Given the description of an element on the screen output the (x, y) to click on. 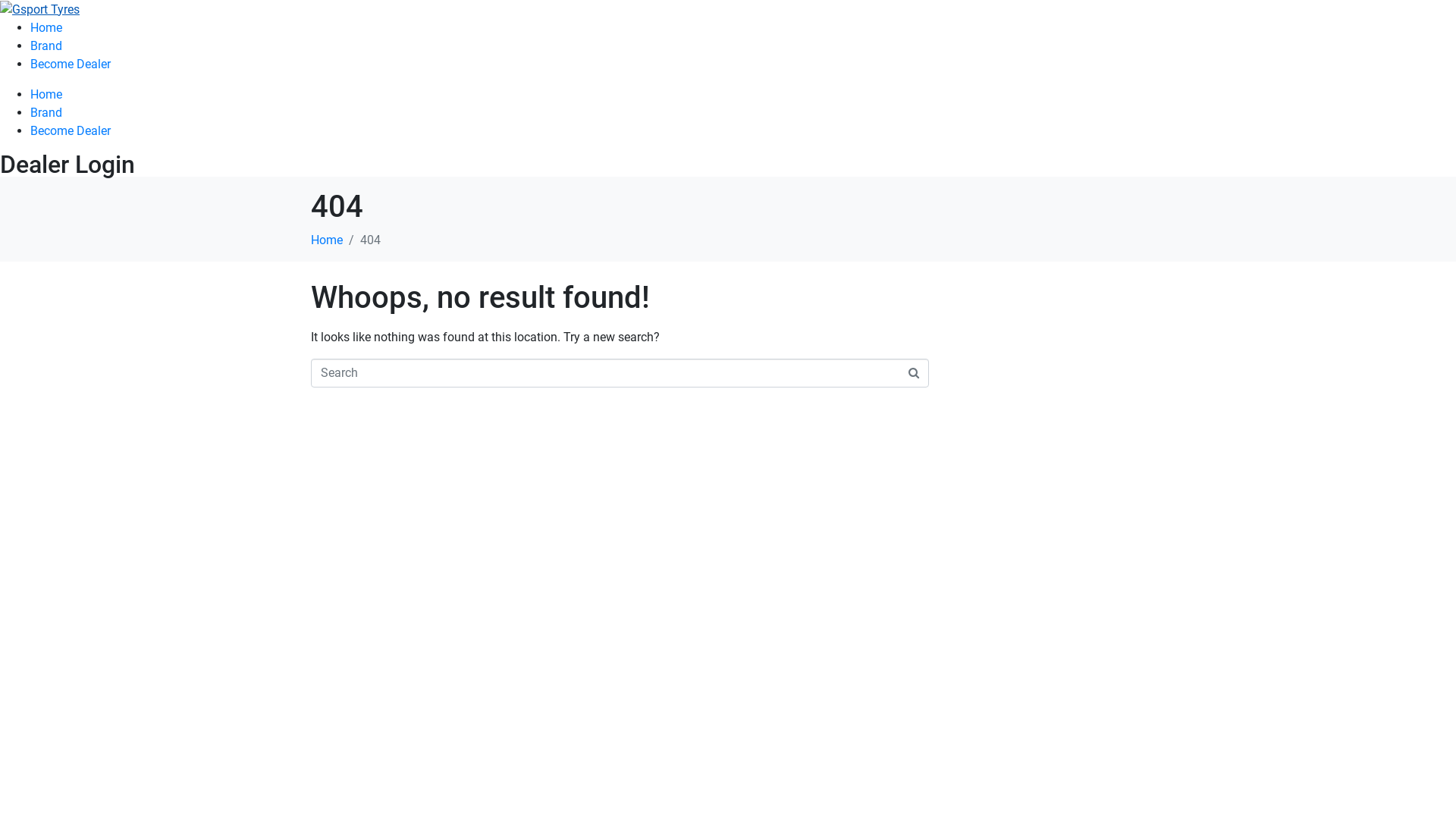
Brand Element type: text (46, 112)
Brand Element type: text (46, 45)
Home Element type: text (46, 94)
Home Element type: text (46, 27)
Become Dealer Element type: text (70, 63)
Dealer Login Element type: text (67, 164)
Become Dealer Element type: text (70, 130)
Home Element type: text (326, 239)
